Given the description of an element on the screen output the (x, y) to click on. 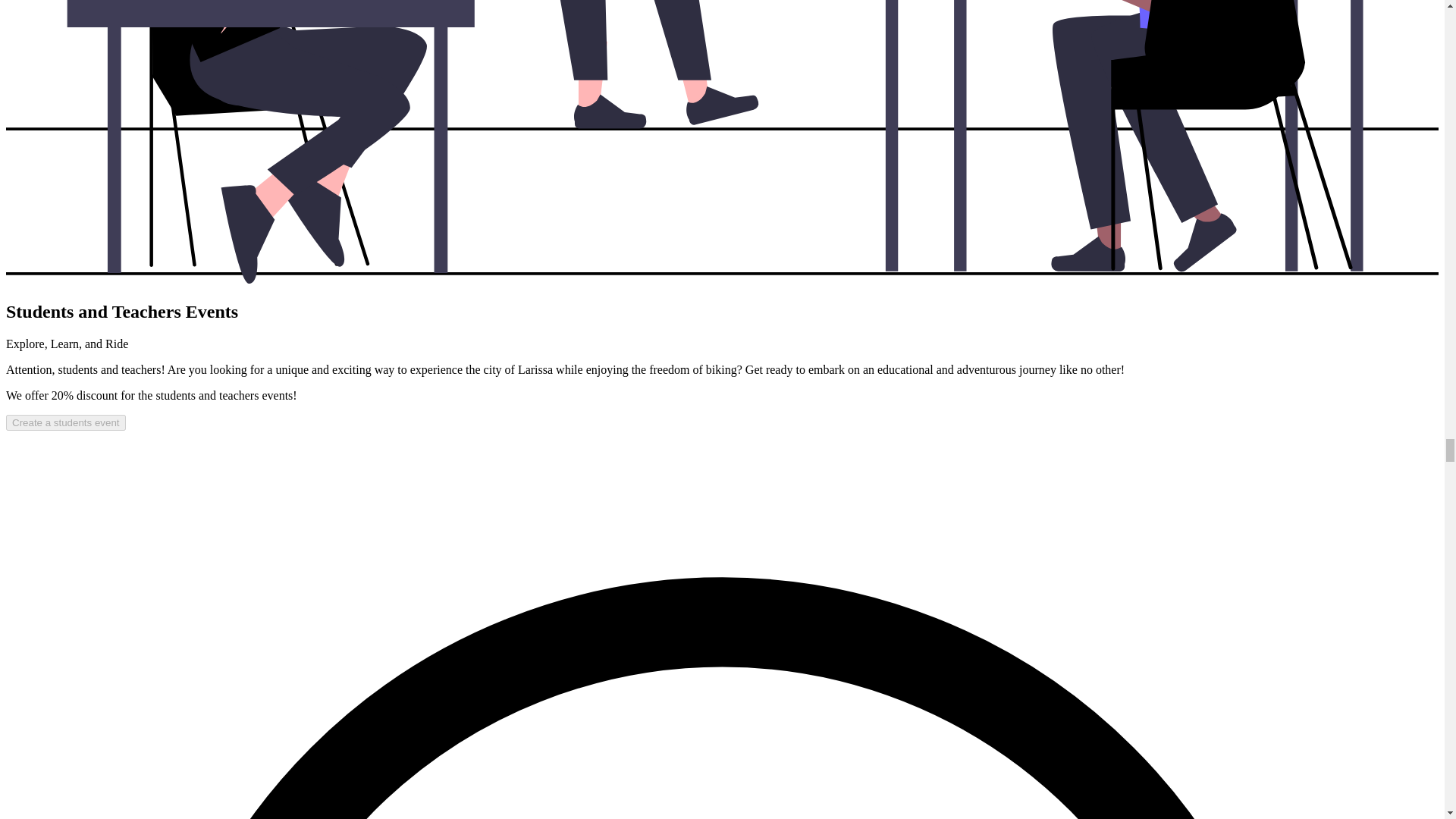
Create a students event (65, 422)
